Given the description of an element on the screen output the (x, y) to click on. 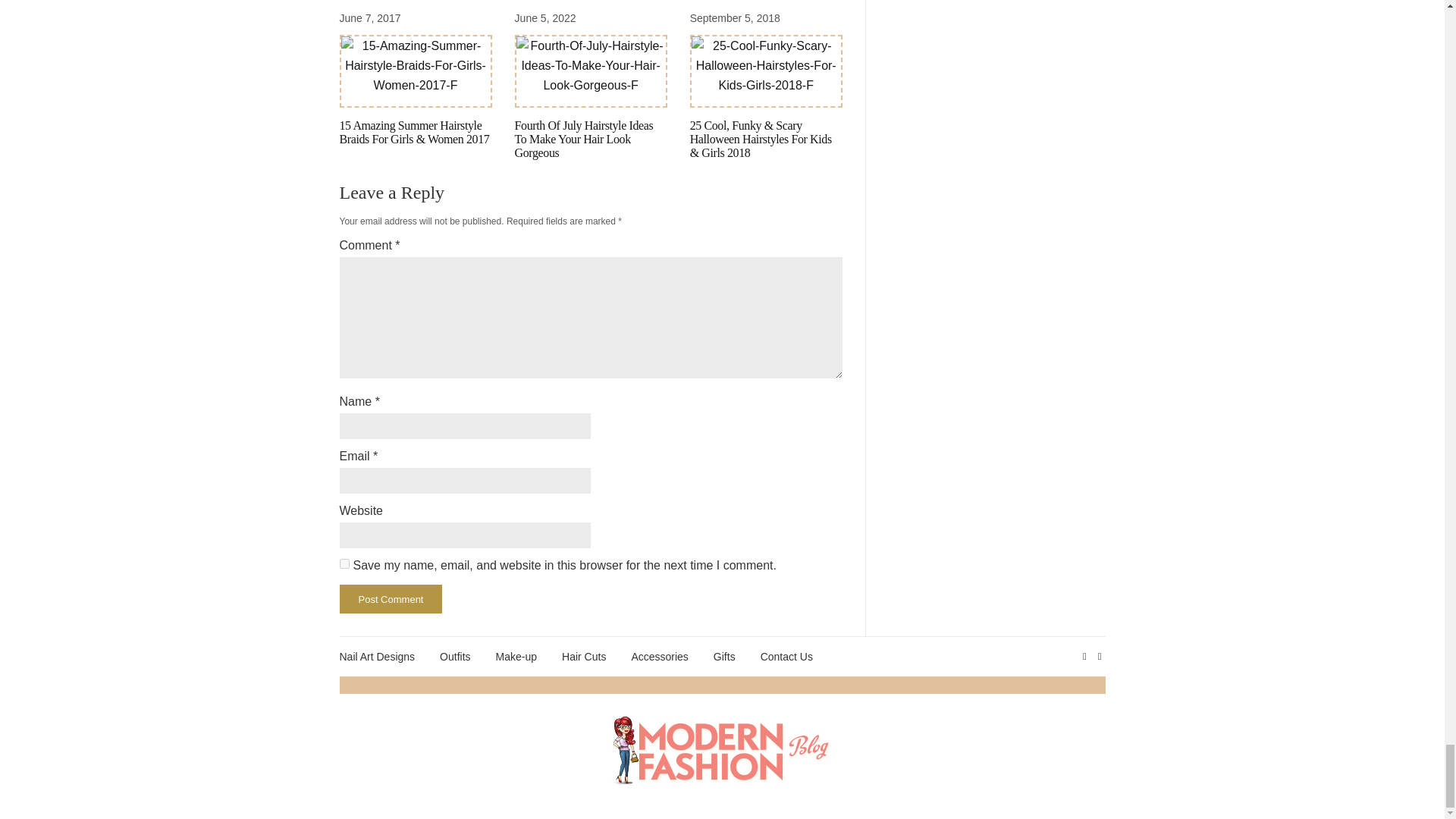
yes (344, 563)
Post Comment (390, 598)
